Given the description of an element on the screen output the (x, y) to click on. 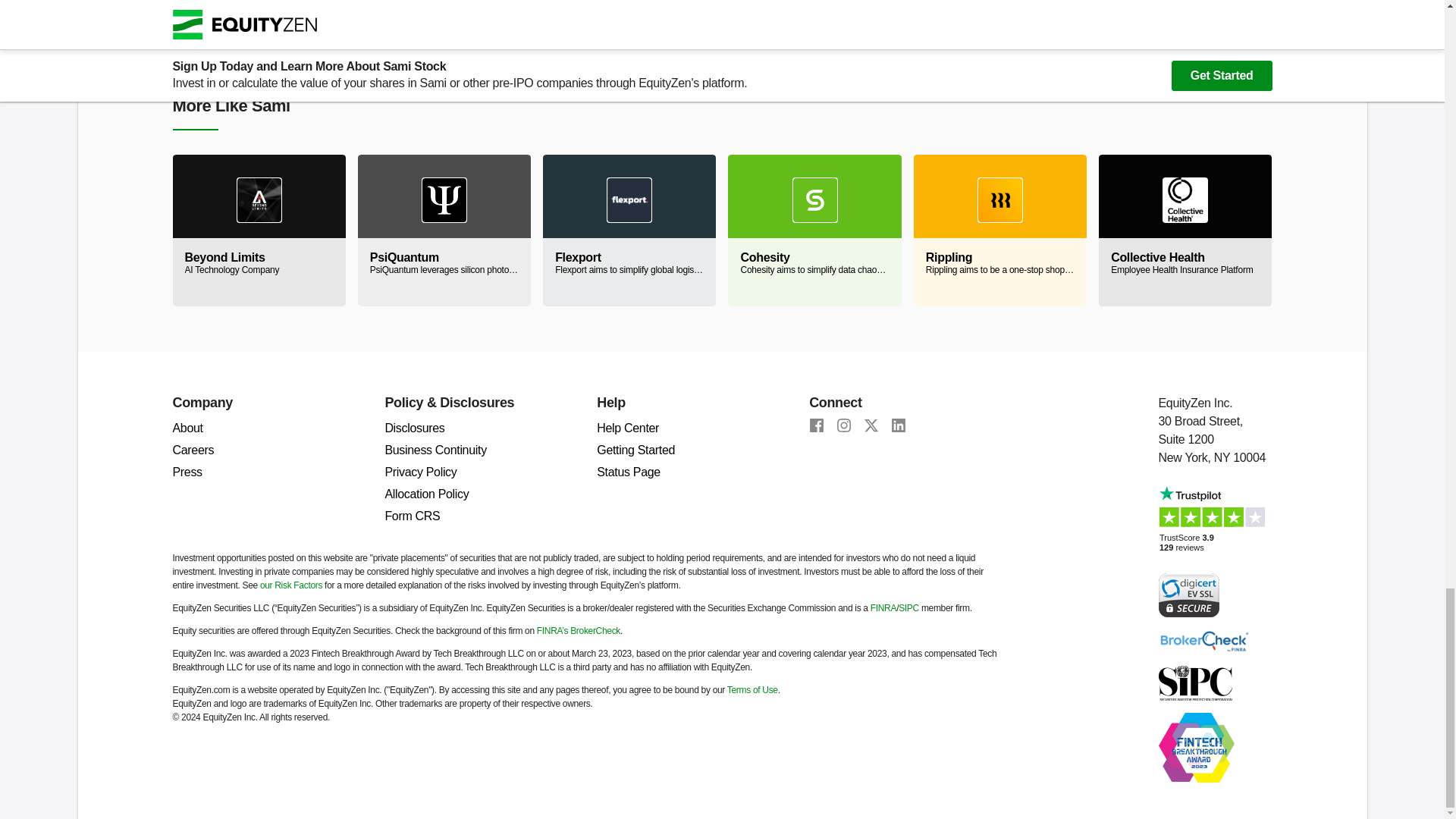
Help Center (627, 427)
Privacy Policy (420, 472)
Careers (193, 449)
Form CRS (411, 515)
Press (187, 472)
Status Page (628, 472)
Press (187, 472)
Status Page (628, 472)
Allocation Policy (426, 493)
Verify Digicert EV Certificate (1189, 594)
Getting Started (635, 449)
Disclosures (414, 427)
Help Center (1185, 230)
SIPC (627, 427)
